Given the description of an element on the screen output the (x, y) to click on. 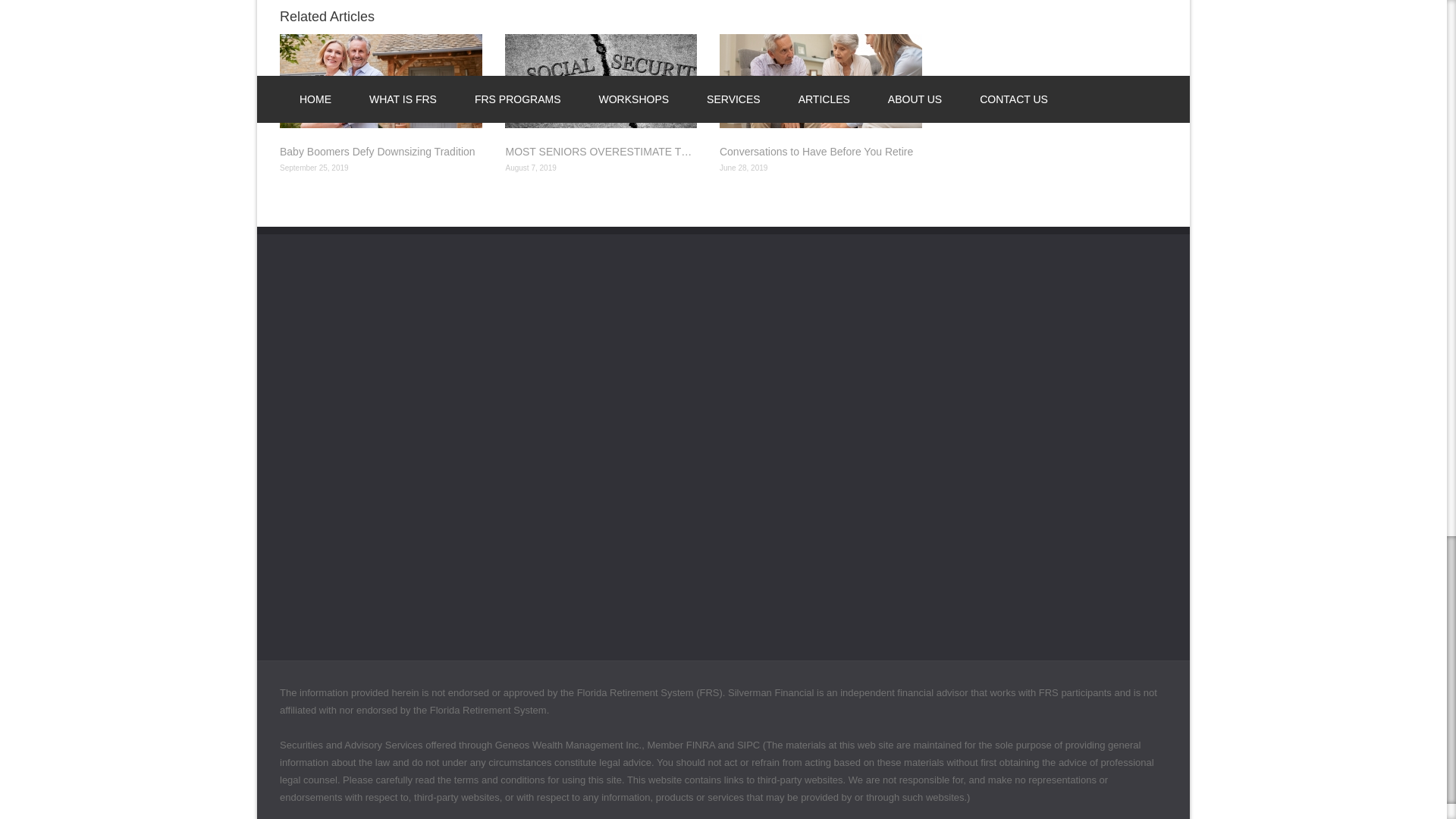
Permalink to Conversations to Have Before You Retire (820, 151)
Permalink to Baby Boomers Defy Downsizing Tradition (380, 151)
Baby Boomers Defy Downsizing Tradition (380, 151)
Conversations to Have Before You Retire (820, 151)
Permalink to Baby Boomers Defy Downsizing Tradition (380, 80)
MOST SENIORS OVERESTIMATE THEIR SOCIAL SECURITY BENEFITS (600, 151)
Permalink to Conversations to Have Before You Retire (820, 80)
